Given the description of an element on the screen output the (x, y) to click on. 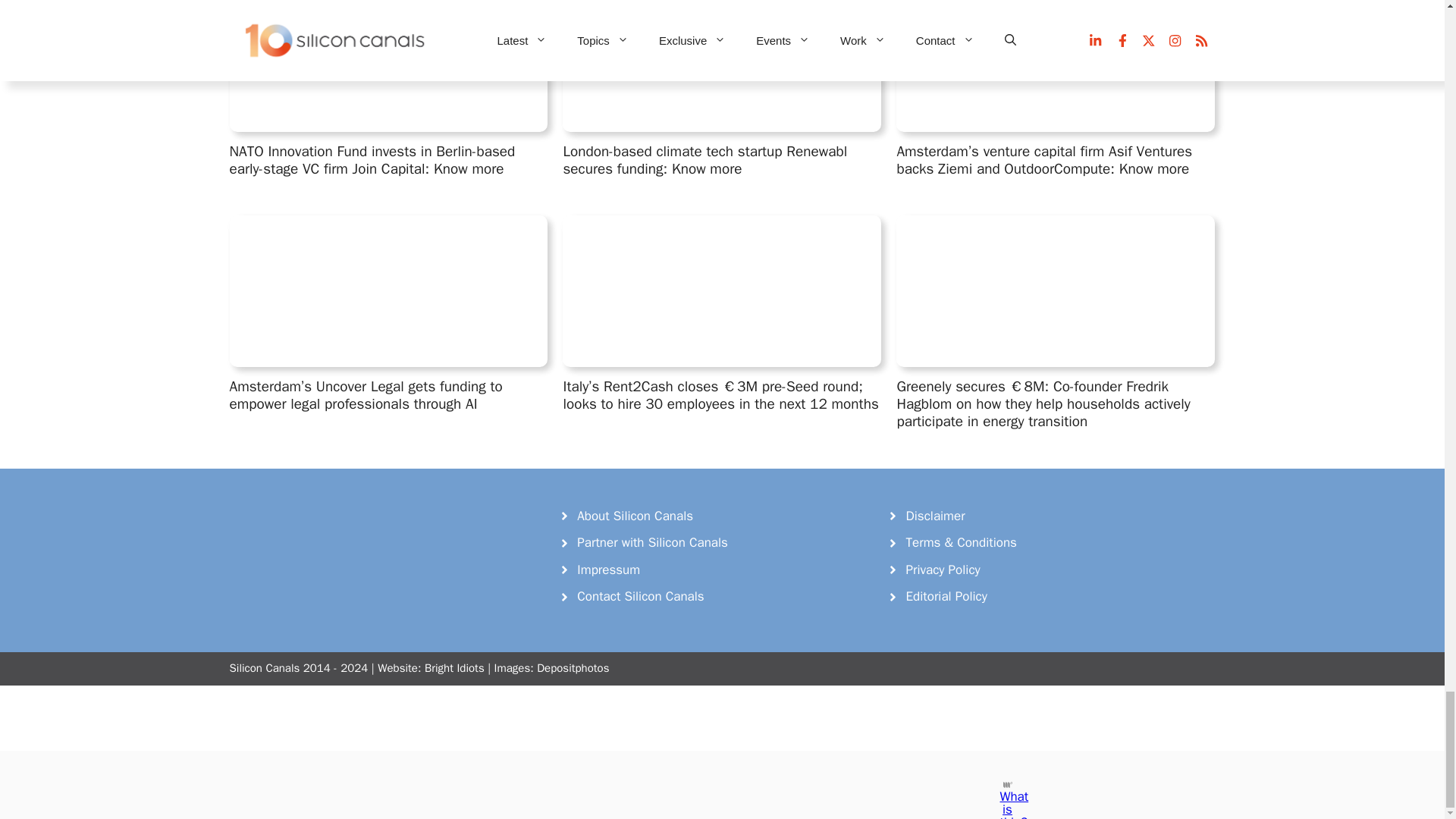
Silicon Canals logo white SC (342, 536)
